Given the description of an element on the screen output the (x, y) to click on. 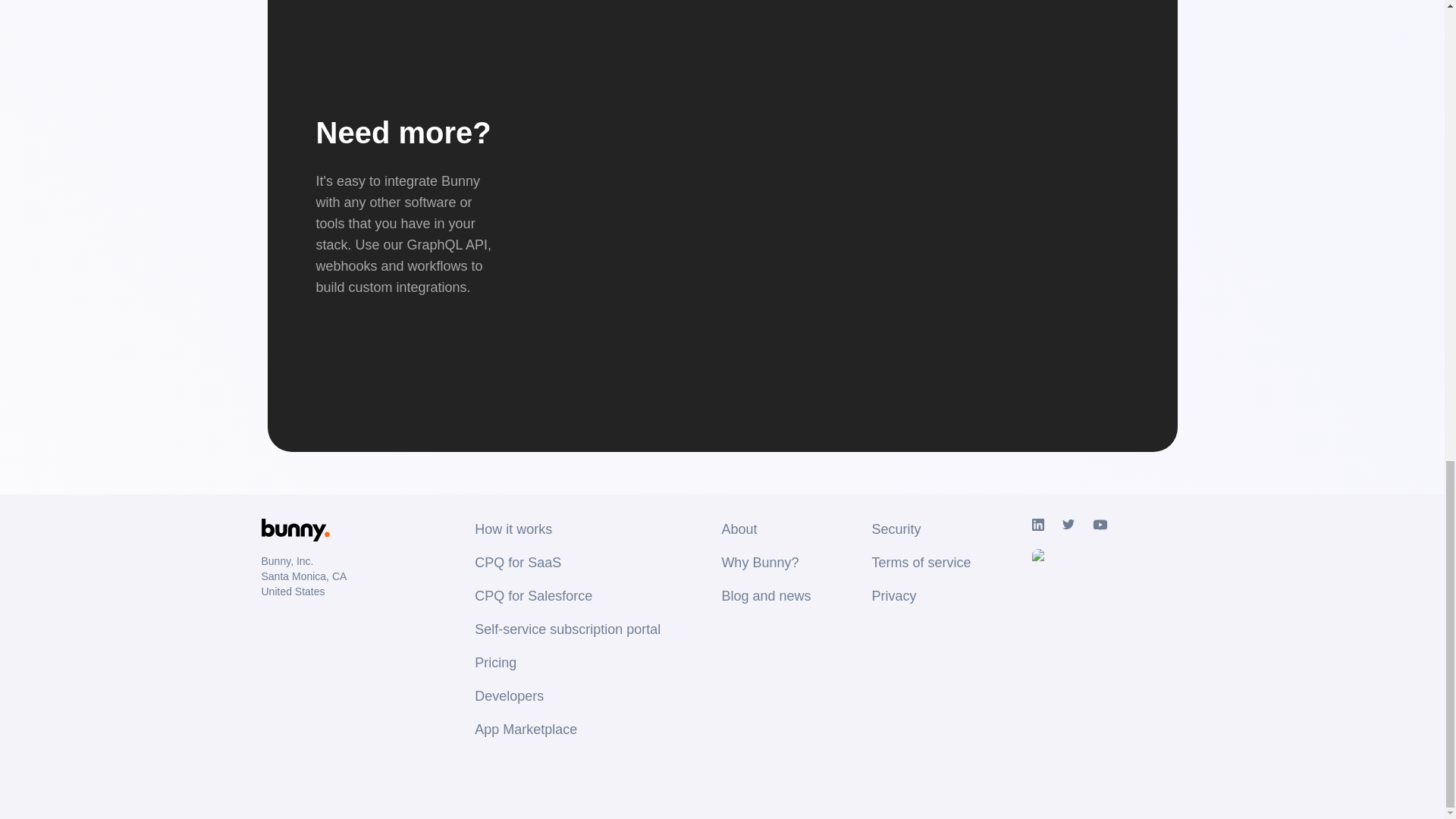
Pricing (567, 662)
About (765, 528)
Security (920, 528)
Terms of service (920, 562)
Developers (567, 695)
Blog and news (765, 595)
CPQ for SaaS (567, 562)
CPQ for Salesforce (567, 595)
App Marketplace (567, 729)
Why Bunny? (765, 562)
Self-service subscription portal (567, 629)
Privacy (920, 595)
How it works (567, 528)
